Given the description of an element on the screen output the (x, y) to click on. 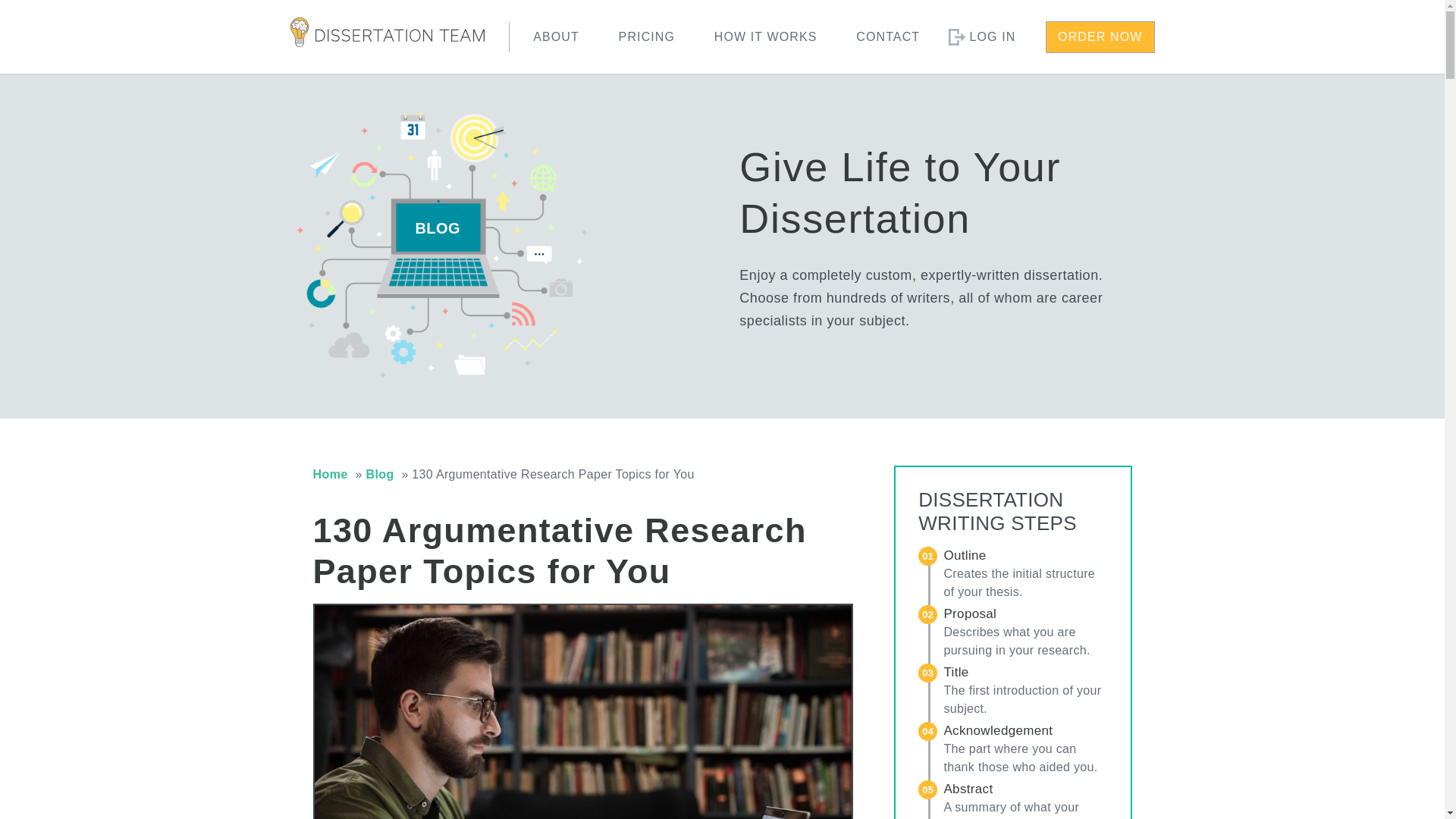
Blog (379, 473)
HOW IT WORKS (765, 36)
ABOUT (555, 36)
Home (330, 473)
ORDER NOW (1099, 37)
CONTACT (888, 36)
BLOG (437, 228)
PRICING (646, 36)
LOG IN (991, 36)
